Given the description of an element on the screen output the (x, y) to click on. 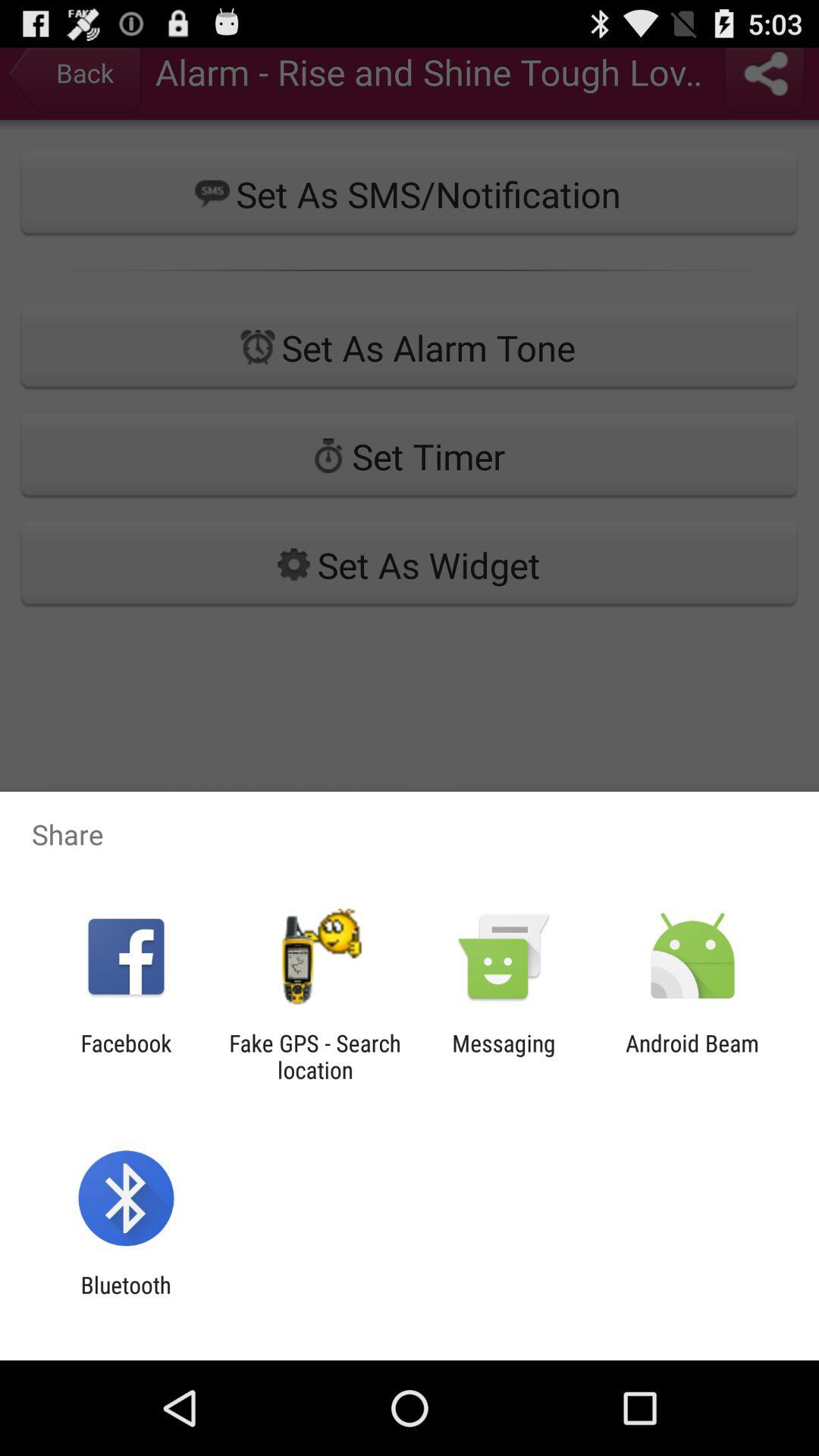
press the app to the left of messaging (314, 1056)
